Given the description of an element on the screen output the (x, y) to click on. 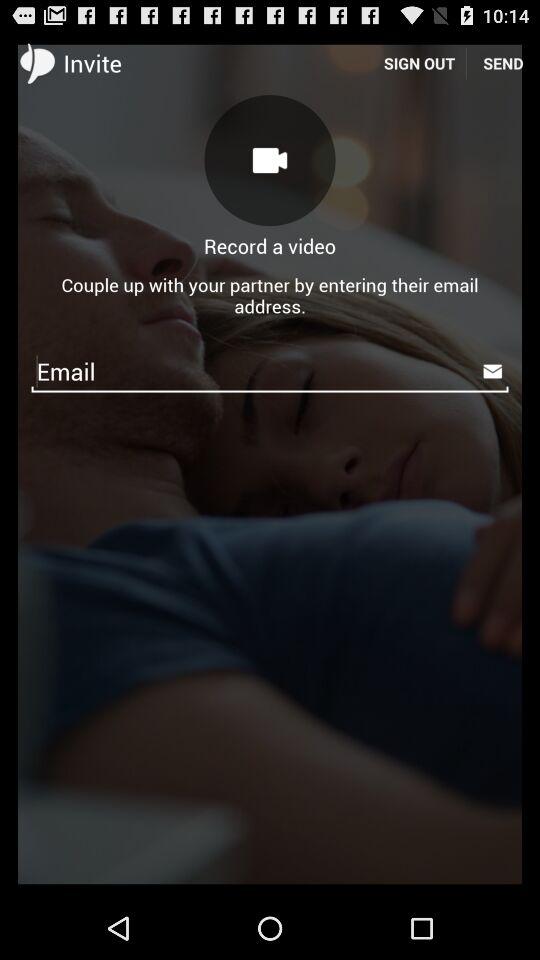
select icon above the couple up with (503, 62)
